Given the description of an element on the screen output the (x, y) to click on. 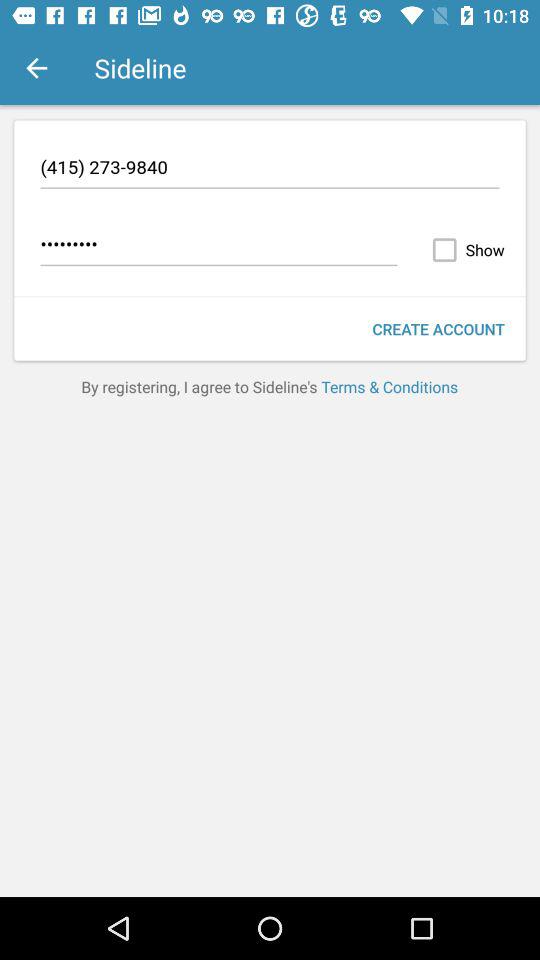
press item below (415) 273-9840 (463, 250)
